Given the description of an element on the screen output the (x, y) to click on. 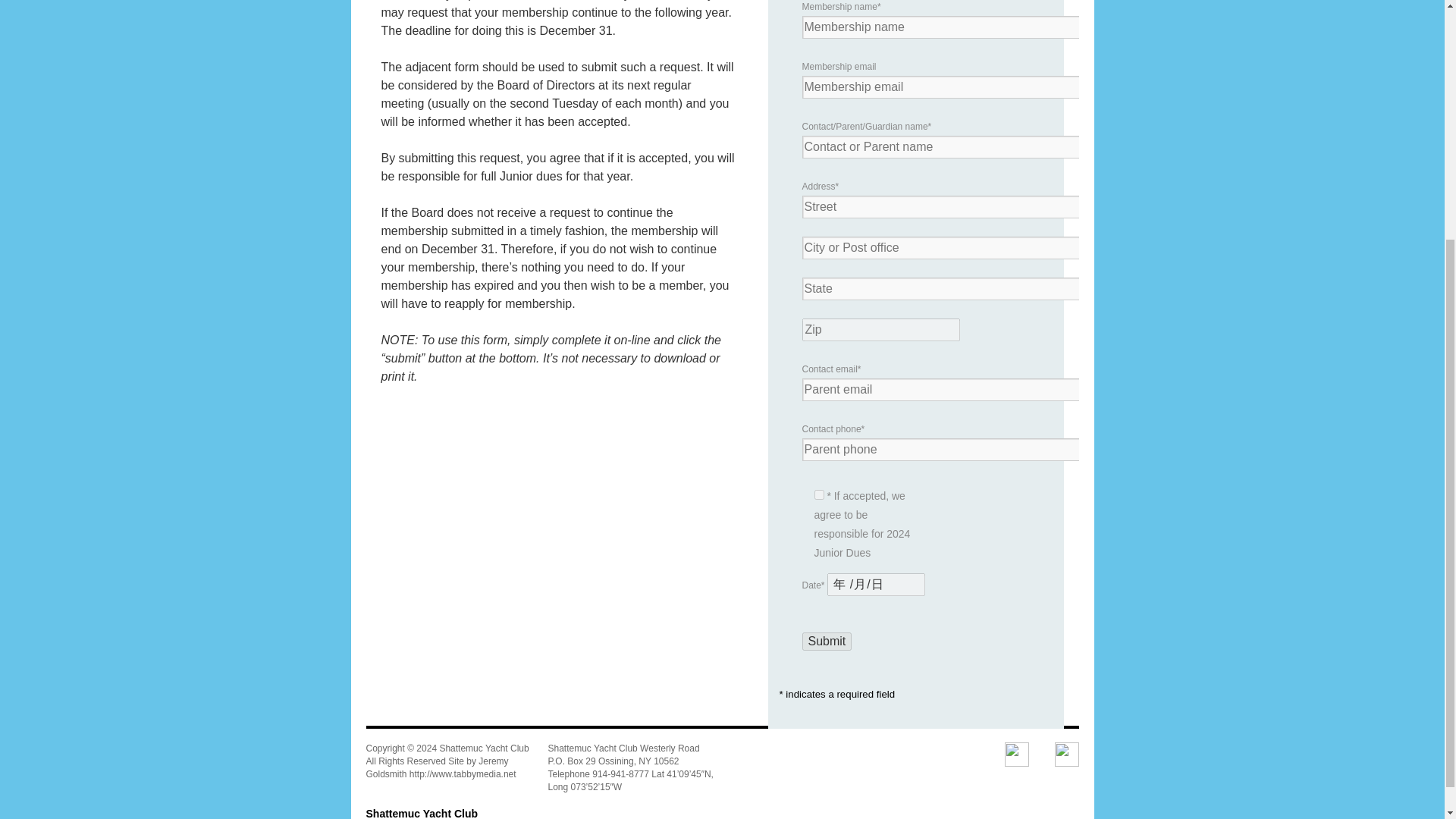
Submit (826, 641)
Submit (826, 641)
1 (818, 494)
